Given the description of an element on the screen output the (x, y) to click on. 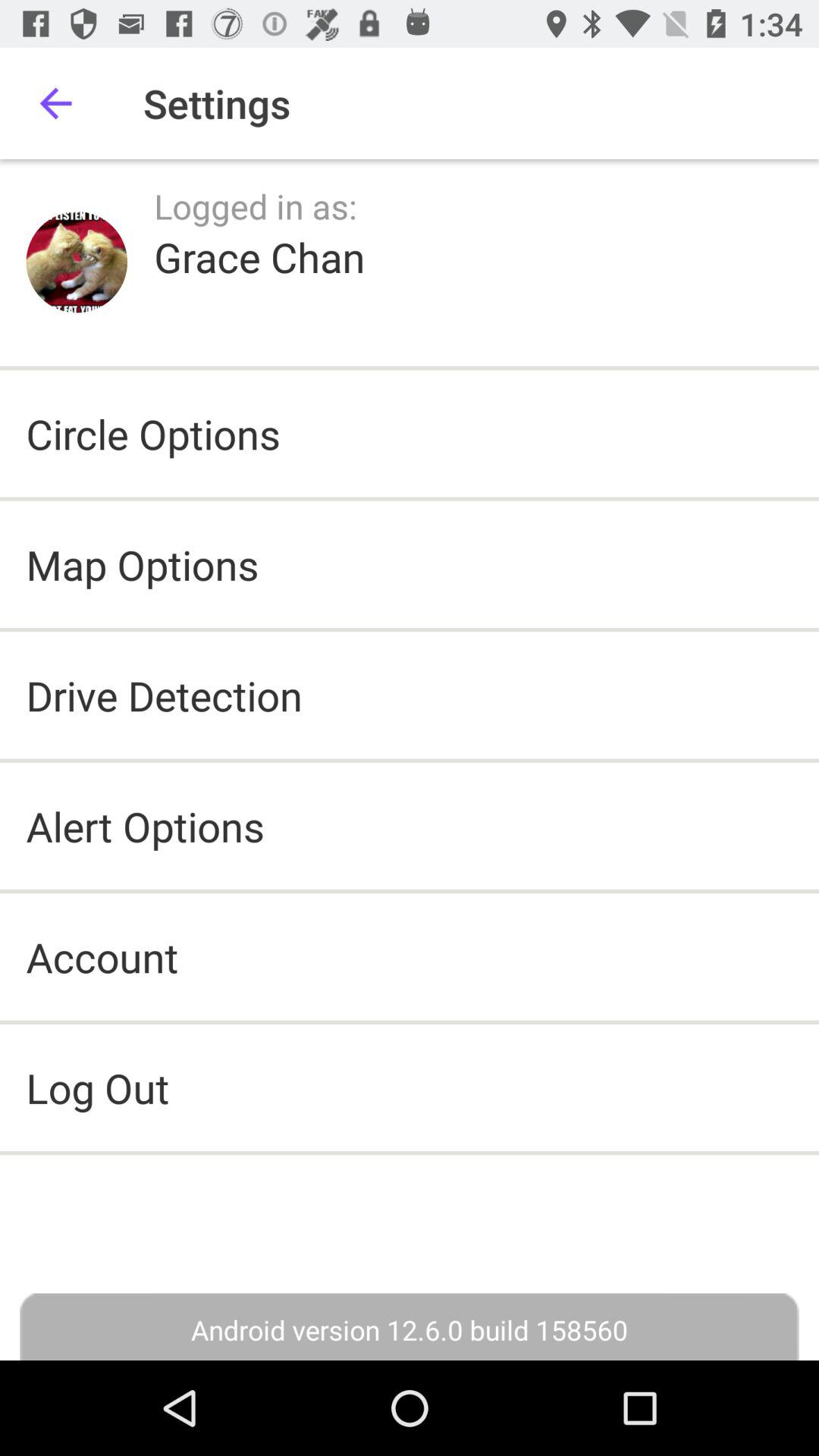
scroll until the logged in as: item (255, 206)
